Given the description of an element on the screen output the (x, y) to click on. 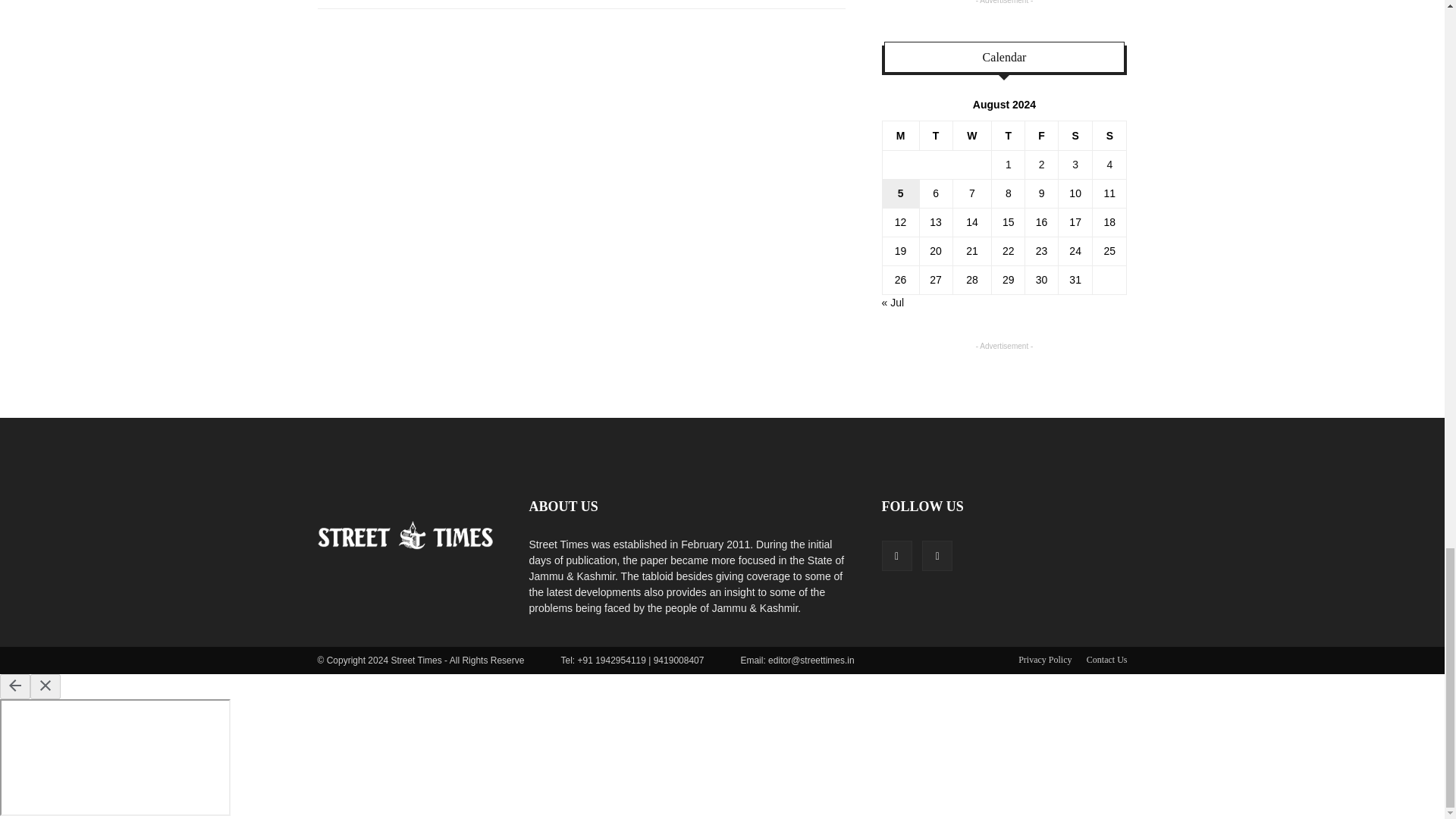
Monday (900, 134)
Tuesday (935, 134)
